Given the description of an element on the screen output the (x, y) to click on. 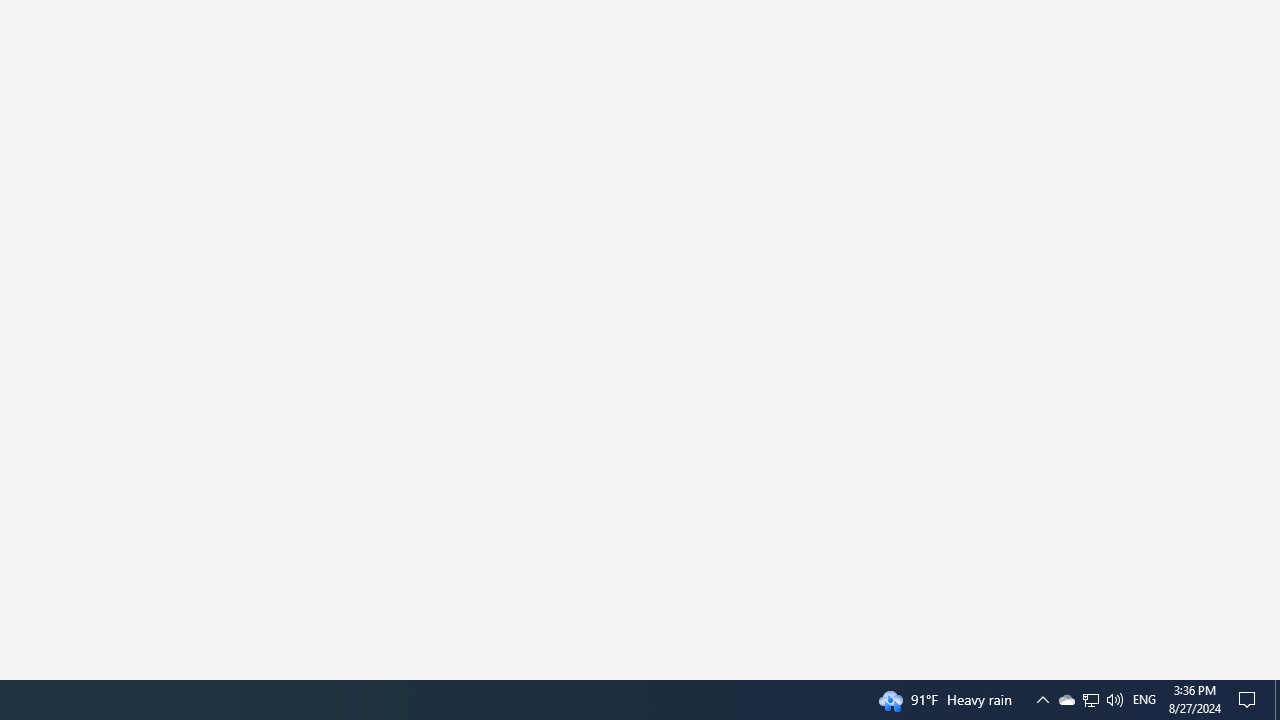
Vertical Small Increase (1272, 672)
